Given the description of an element on the screen output the (x, y) to click on. 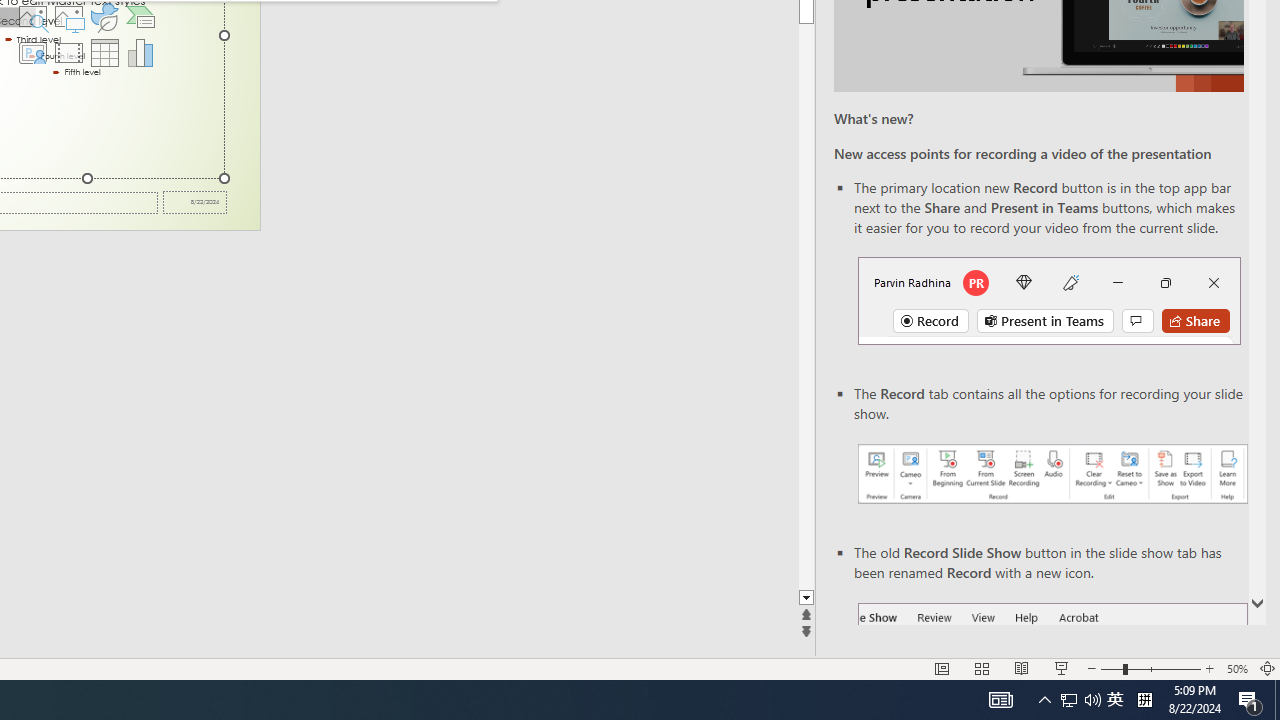
Zoom 50% (1236, 668)
Insert Video (68, 52)
Record your presentations screenshot one (1052, 473)
